Given the description of an element on the screen output the (x, y) to click on. 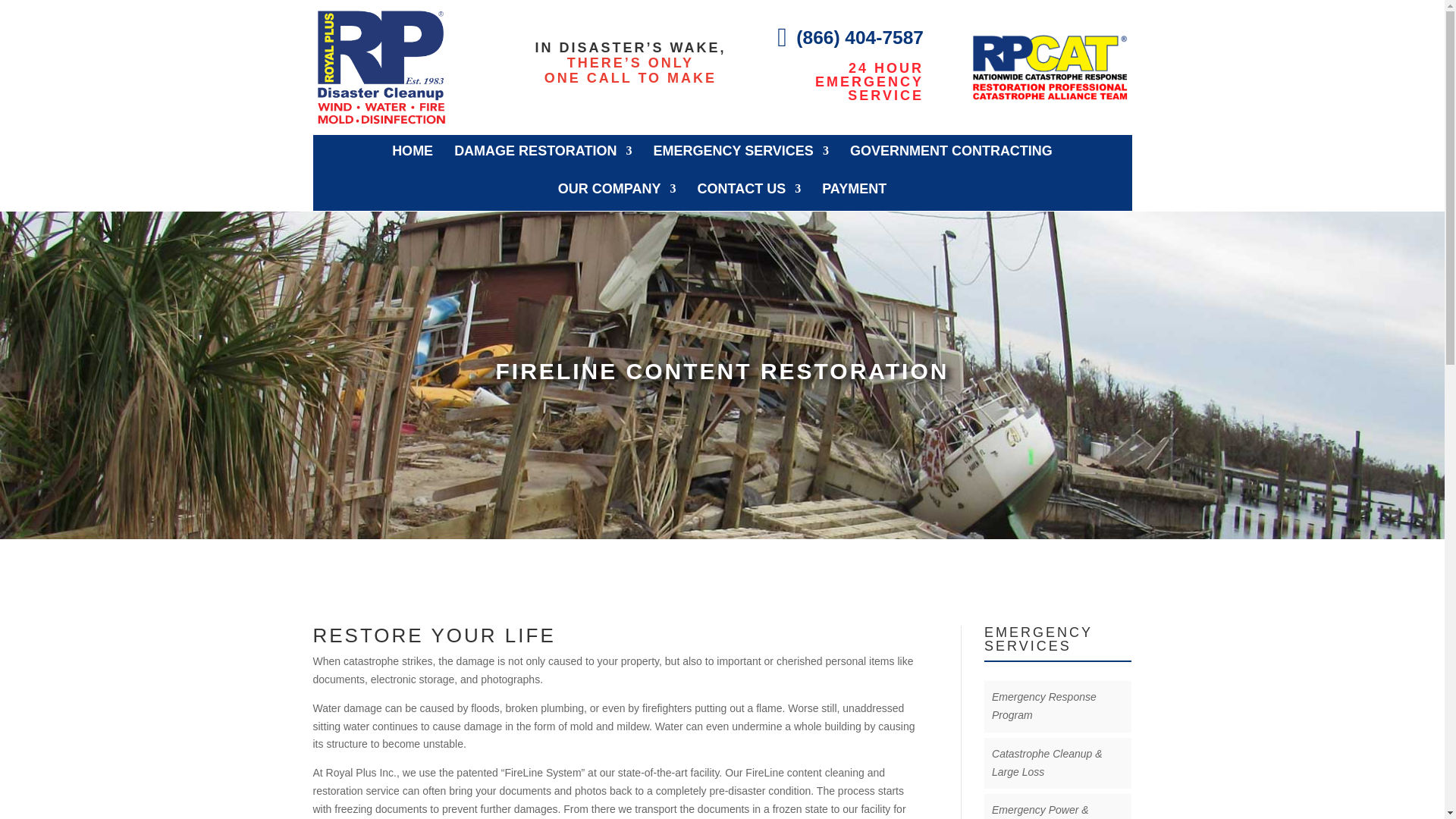
EMERGENCY SERVICES (740, 153)
CONTACT US (748, 191)
PAYMENT (854, 191)
DAMAGE RESTORATION (542, 153)
GOVERNMENT CONTRACTING (951, 153)
OUR COMPANY (617, 191)
HOME (411, 153)
new logo (380, 67)
